Given the description of an element on the screen output the (x, y) to click on. 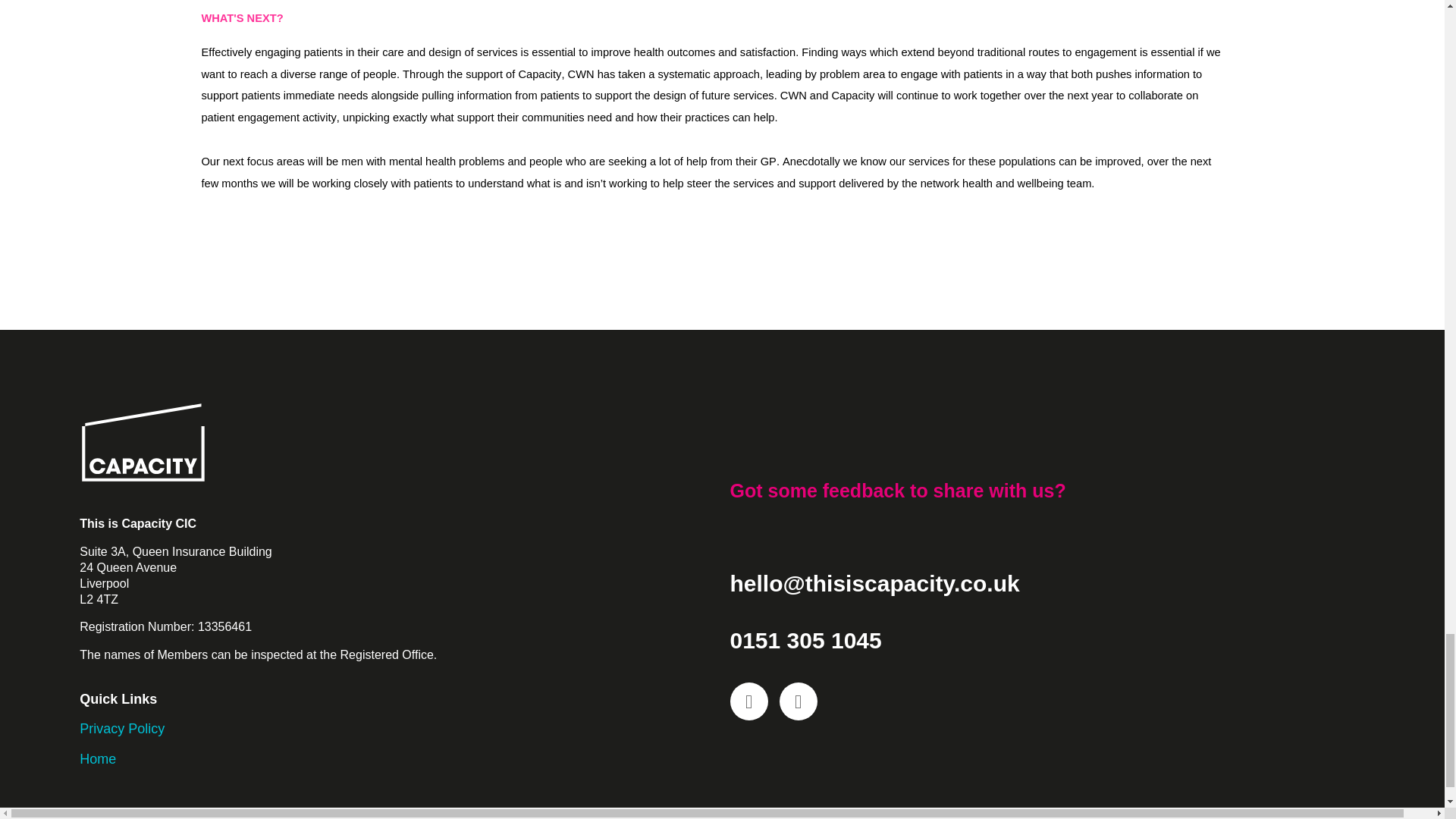
Privacy Policy (122, 728)
Home (98, 758)
Got some feedback to share with us? (897, 490)
